Given the description of an element on the screen output the (x, y) to click on. 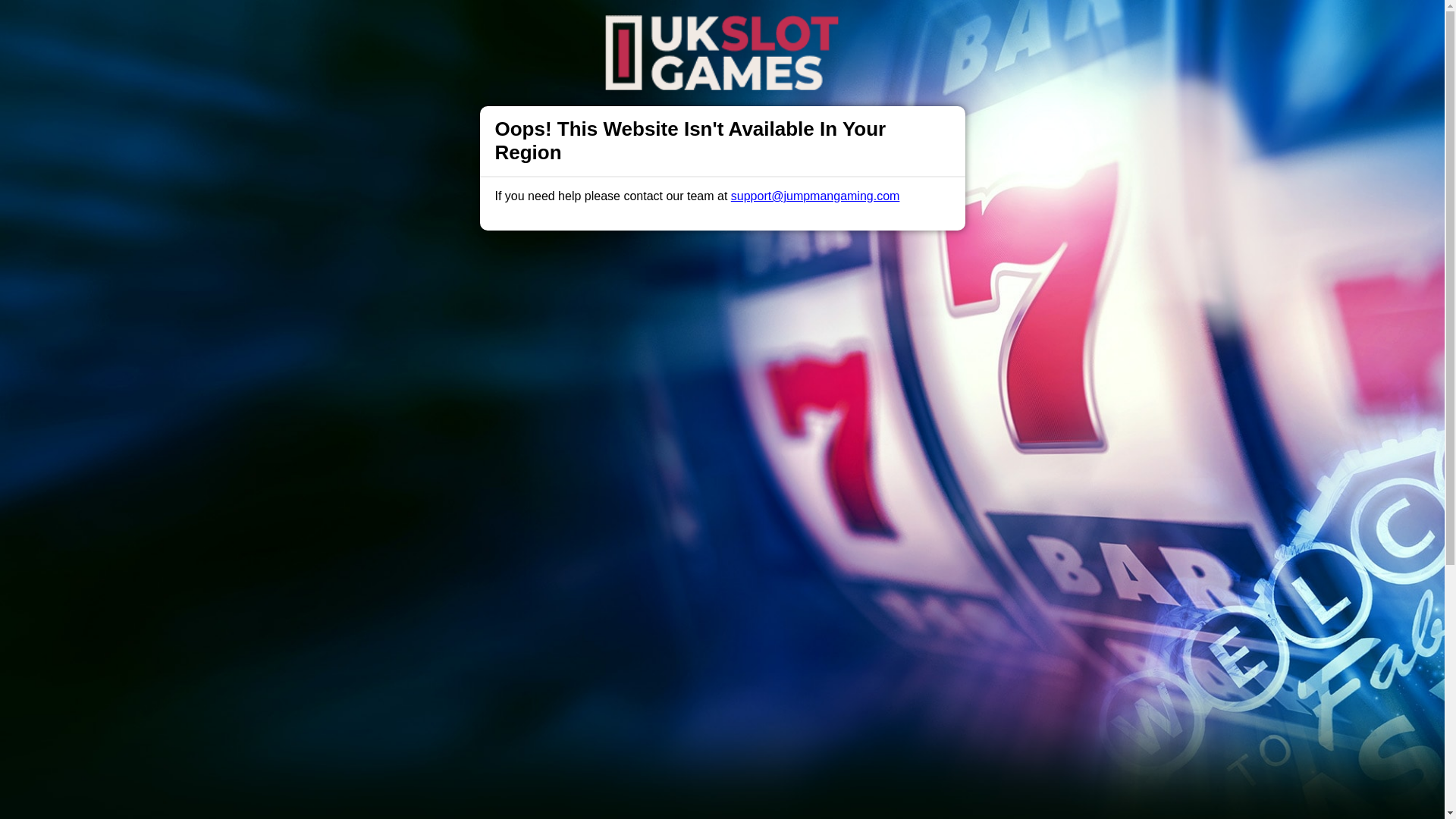
Login (963, 26)
Slot Games (646, 26)
Join Now (1054, 26)
Back To All Games (721, 752)
Promotions (568, 26)
Back To All Games (722, 752)
Trophies (500, 26)
